Given the description of an element on the screen output the (x, y) to click on. 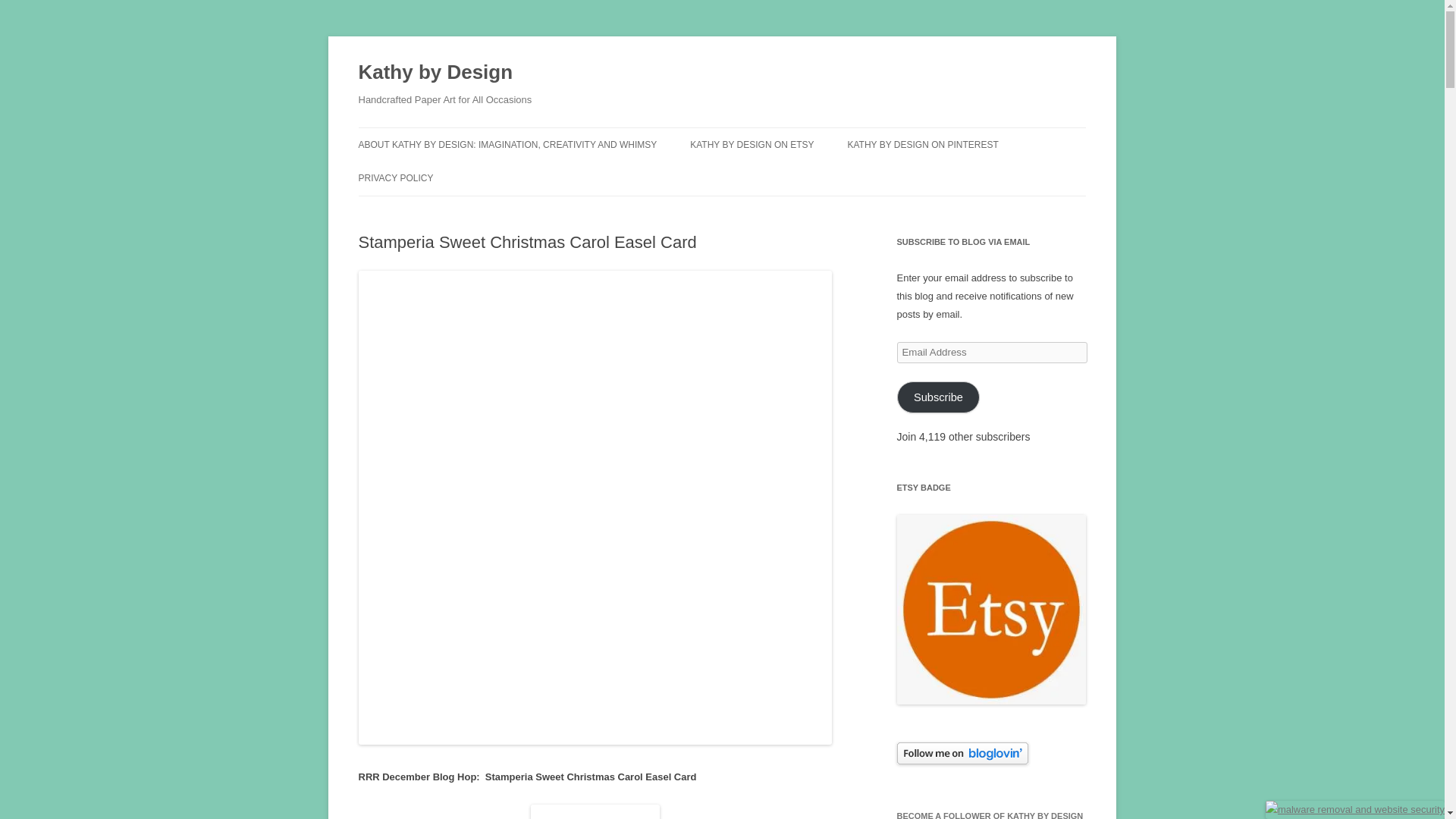
KATHY BY DESIGN ON PINTEREST (922, 144)
Kathy by Design (435, 72)
ABOUT KATHY BY DESIGN: IMAGINATION, CREATIVITY AND WHIMSY (507, 144)
KATHY BY DESIGN ON ETSY (751, 144)
PRIVACY POLICY (395, 177)
